Given the description of an element on the screen output the (x, y) to click on. 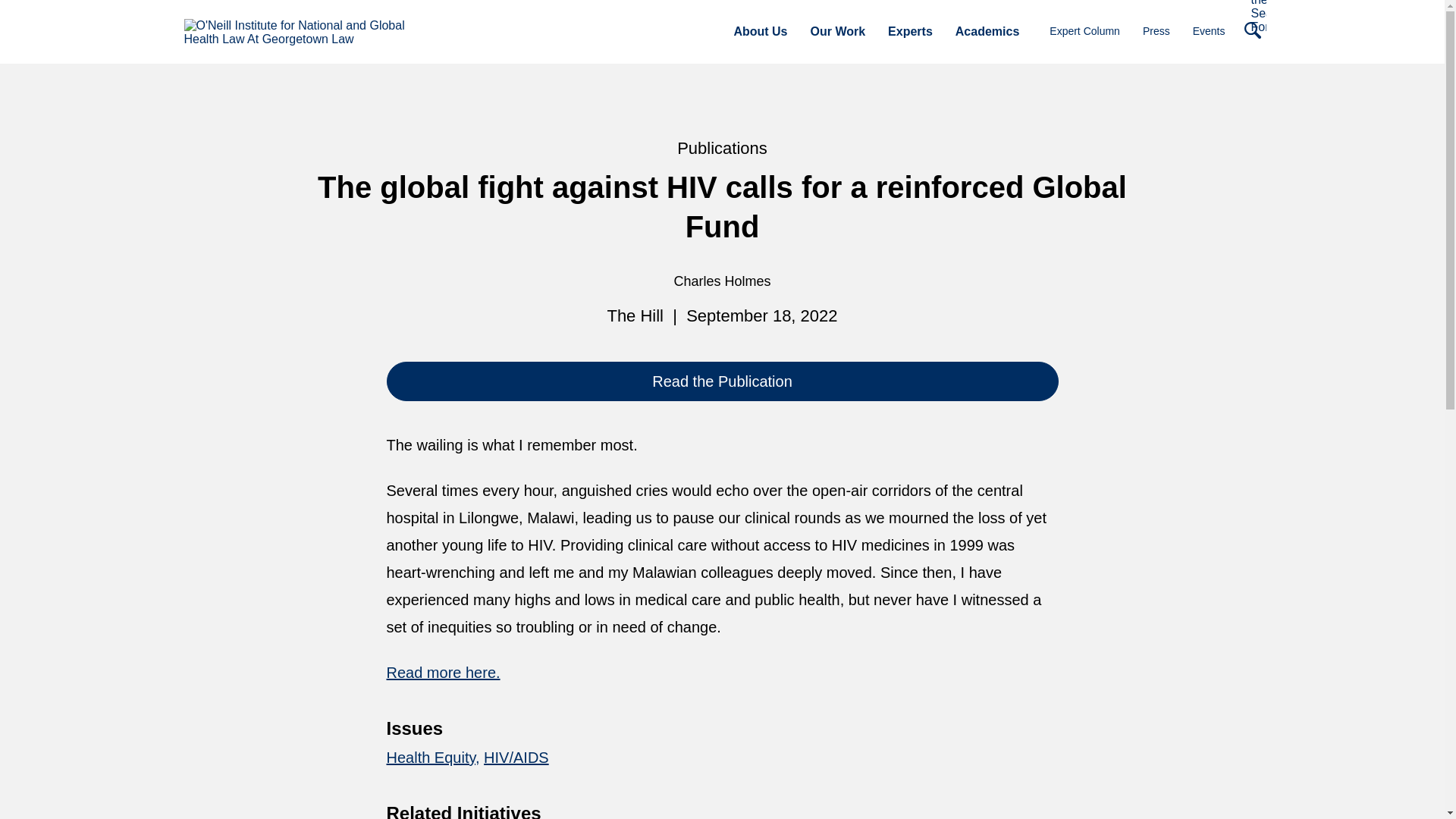
About Us (760, 31)
Press (1156, 30)
Home Logo Link (296, 31)
Expert Column (1084, 30)
Academics (987, 31)
Health Equity (433, 757)
Our Work (836, 31)
Read more here. (443, 672)
Charles Holmes (721, 281)
Read the Publication (722, 381)
Experts (910, 31)
Publications (722, 148)
Events (1208, 30)
